Given the description of an element on the screen output the (x, y) to click on. 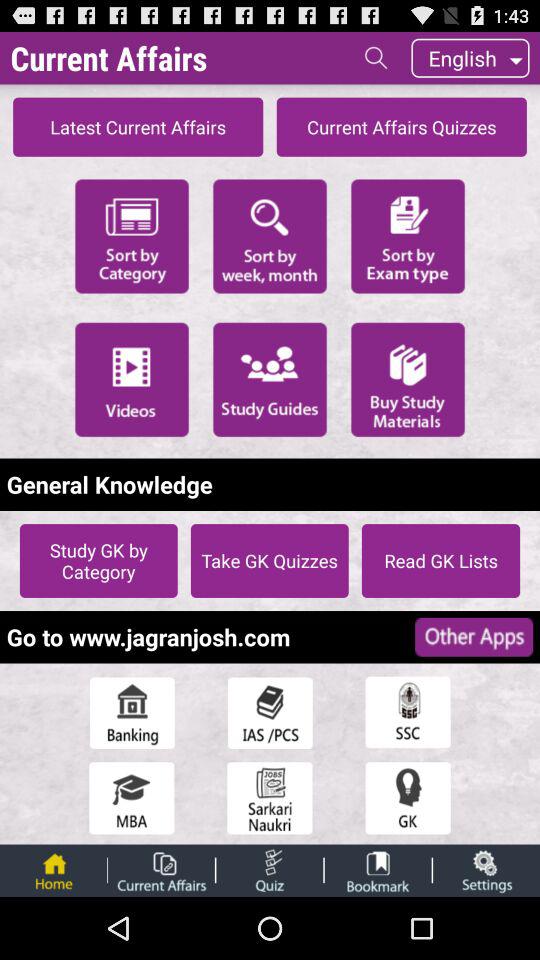
sort by category (131, 234)
